Given the description of an element on the screen output the (x, y) to click on. 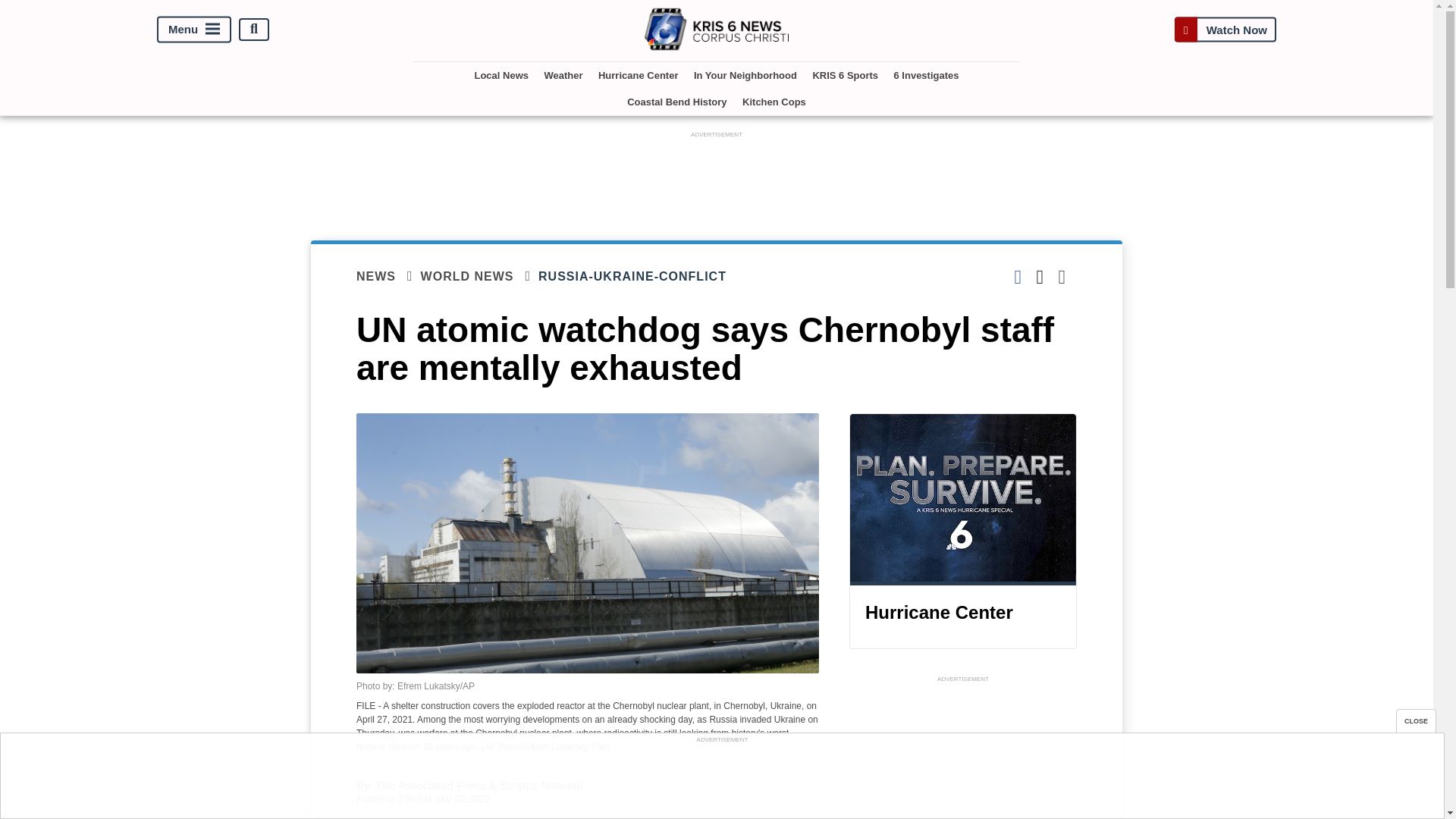
Watch Now (1224, 29)
Menu (194, 28)
3rd party ad content (716, 175)
3rd party ad content (962, 752)
3rd party ad content (721, 780)
